Given the description of an element on the screen output the (x, y) to click on. 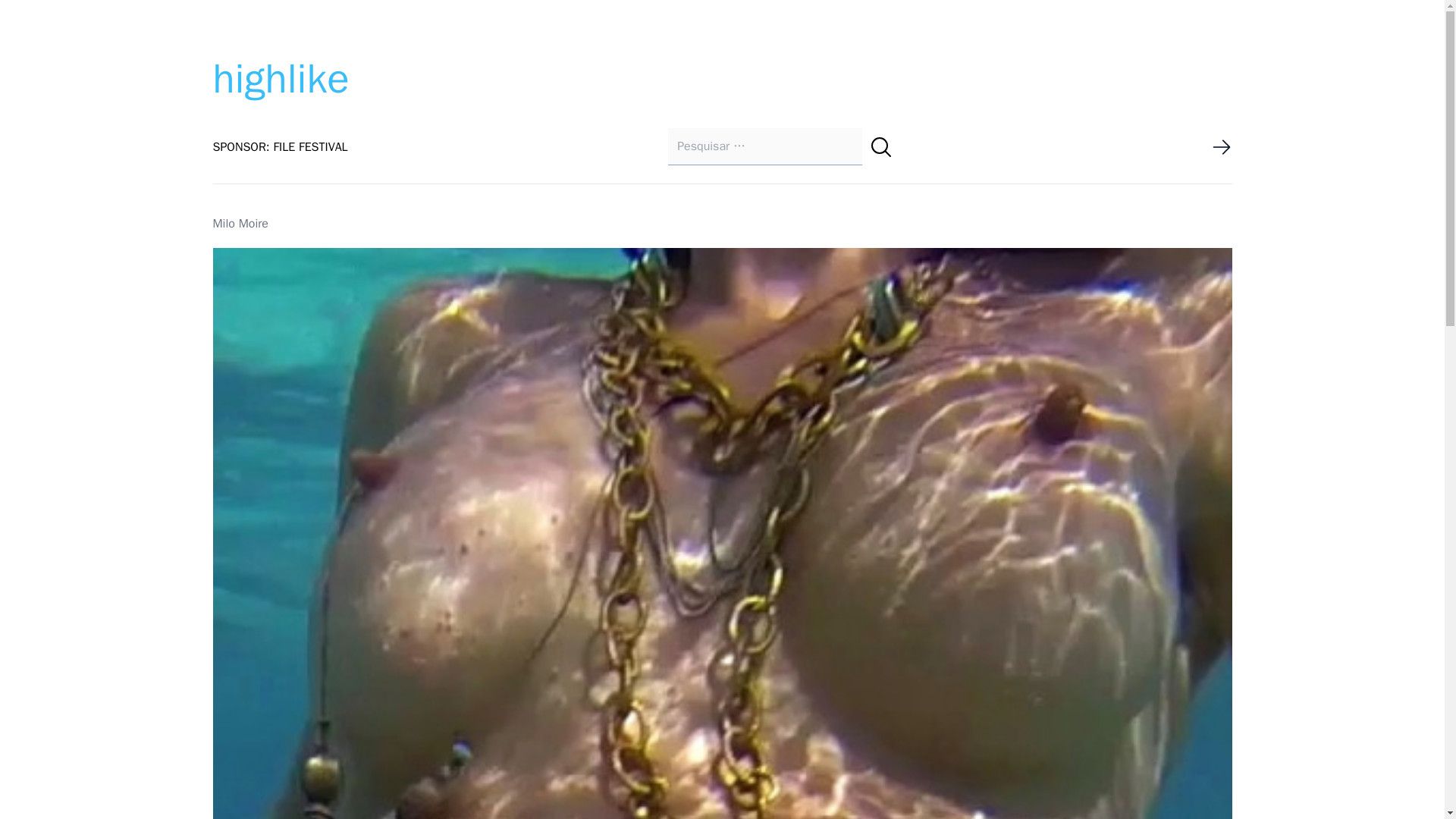
highlike (280, 78)
Pesquisar (881, 146)
SPONSOR: FILE FESTIVAL (279, 147)
